Given the description of an element on the screen output the (x, y) to click on. 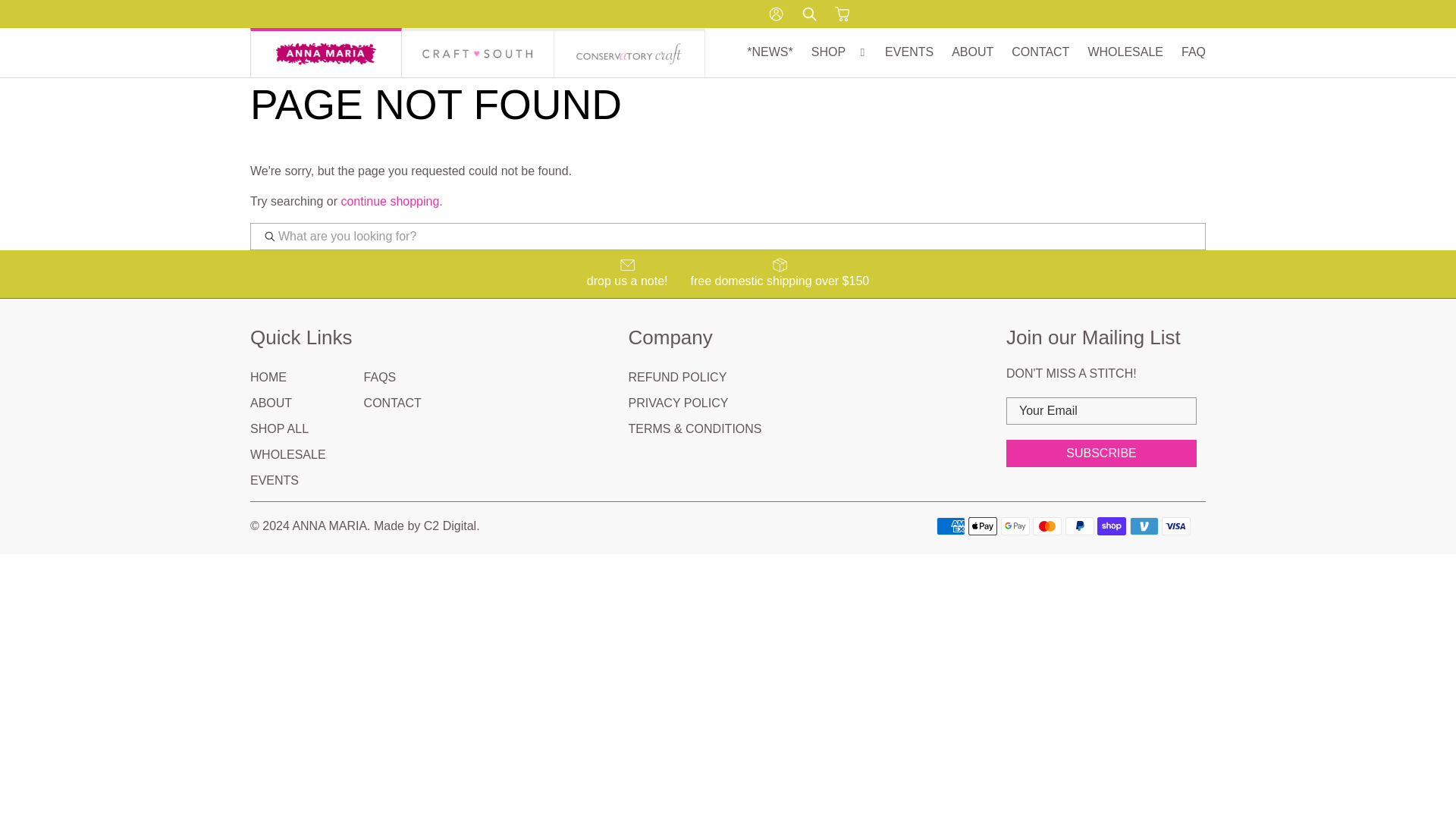
American Express (950, 525)
PayPal (1079, 525)
SHOP (839, 52)
Venmo (1143, 525)
Apple Pay (982, 525)
Anna Maria (325, 51)
Mastercard (1046, 525)
Visa (1176, 525)
Shop Pay (1111, 525)
Google Pay (1015, 525)
